Given the description of an element on the screen output the (x, y) to click on. 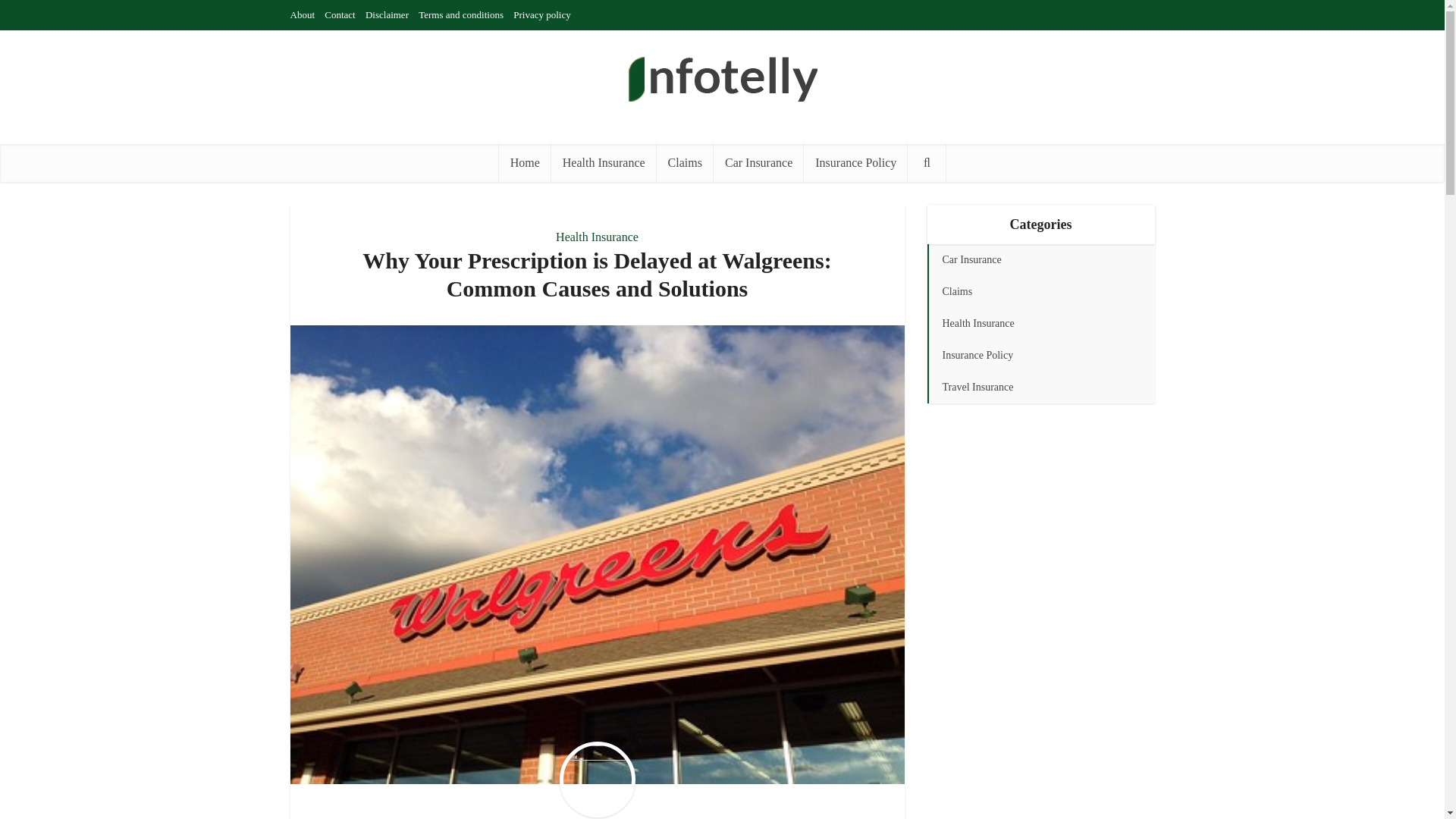
Contact (339, 14)
Disclaimer (387, 14)
Health Insurance (603, 162)
Insurance Policy (855, 162)
Terms and conditions (461, 14)
Car Insurance (758, 162)
Home (525, 162)
Claims (684, 162)
About (301, 14)
Privacy policy (541, 14)
Health Insurance (597, 236)
